Given the description of an element on the screen output the (x, y) to click on. 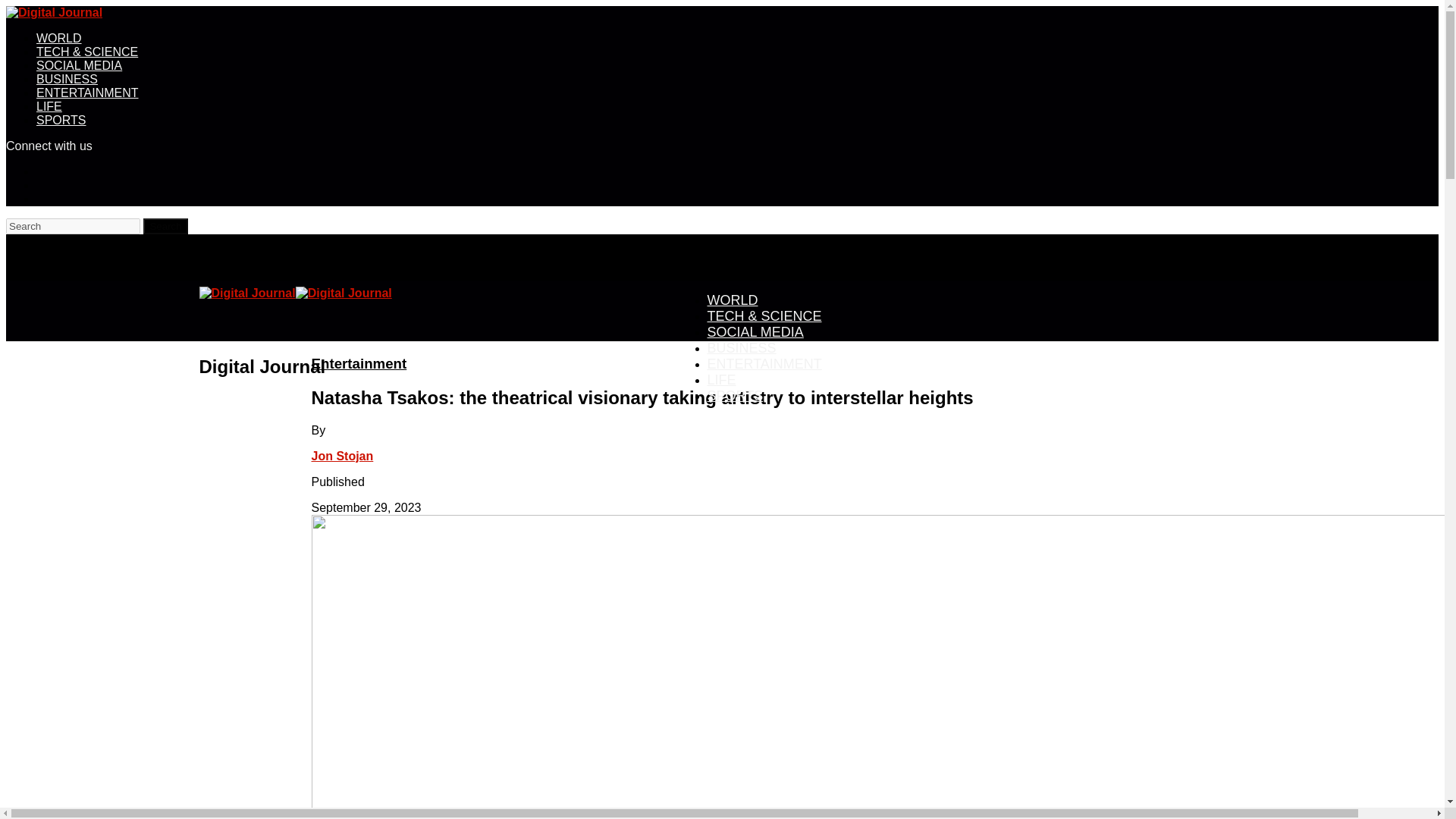
SPORTS (60, 119)
SOCIAL MEDIA (79, 65)
Search (164, 226)
Entertainment (358, 363)
ENTERTAINMENT (763, 363)
LIFE (49, 106)
SPORTS (734, 395)
WORLD (58, 38)
Posts by Jon Stojan (341, 455)
ENTERTAINMENT (87, 92)
